Given the description of an element on the screen output the (x, y) to click on. 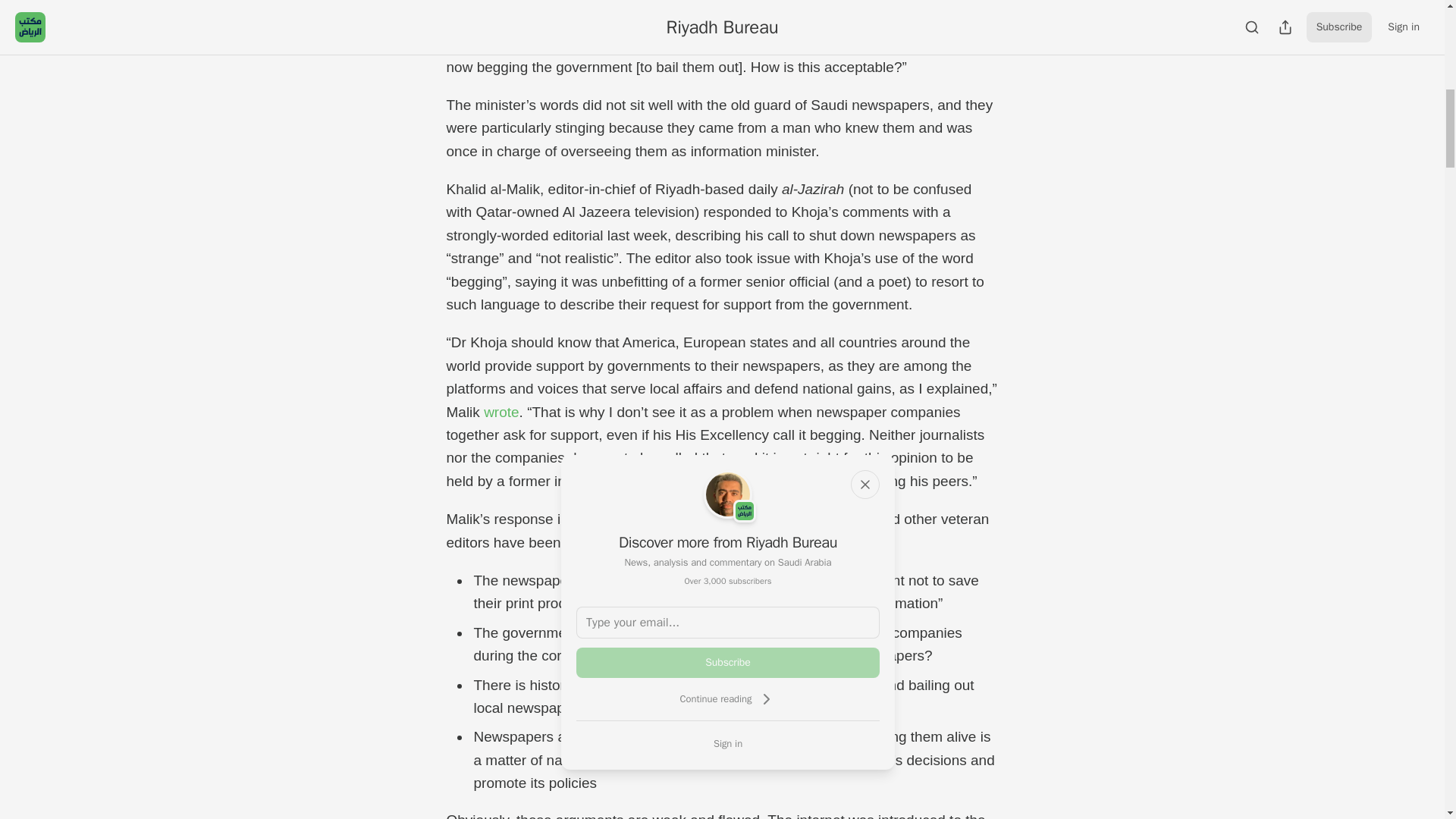
Subscribe (727, 662)
television interview (719, 20)
wrote (500, 412)
Sign in (727, 743)
